Given the description of an element on the screen output the (x, y) to click on. 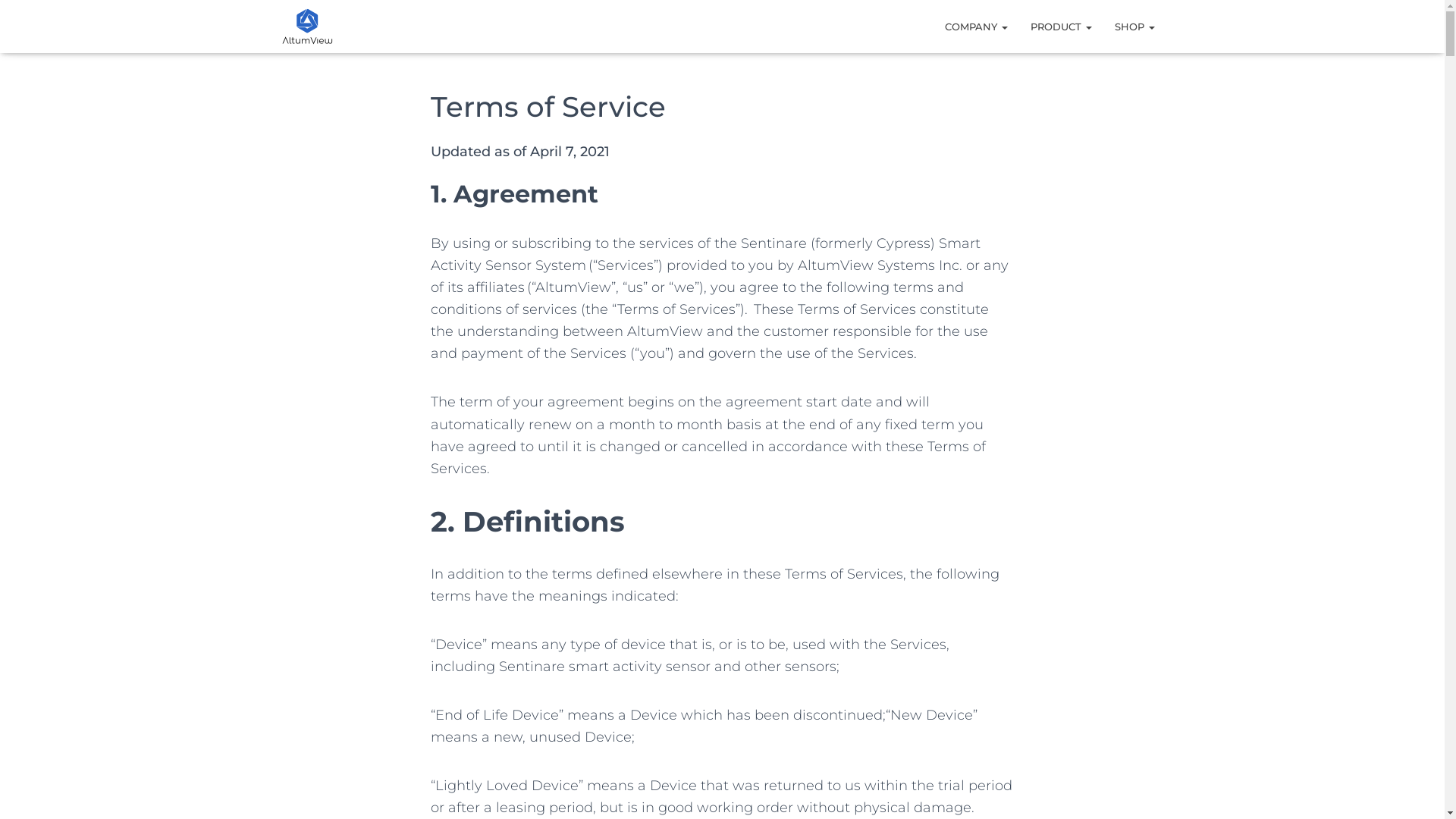
AltumView Element type: hover (306, 26)
PRODUCT Element type: text (1061, 26)
SHOP Element type: text (1133, 26)
COMPANY Element type: text (975, 26)
